Given the description of an element on the screen output the (x, y) to click on. 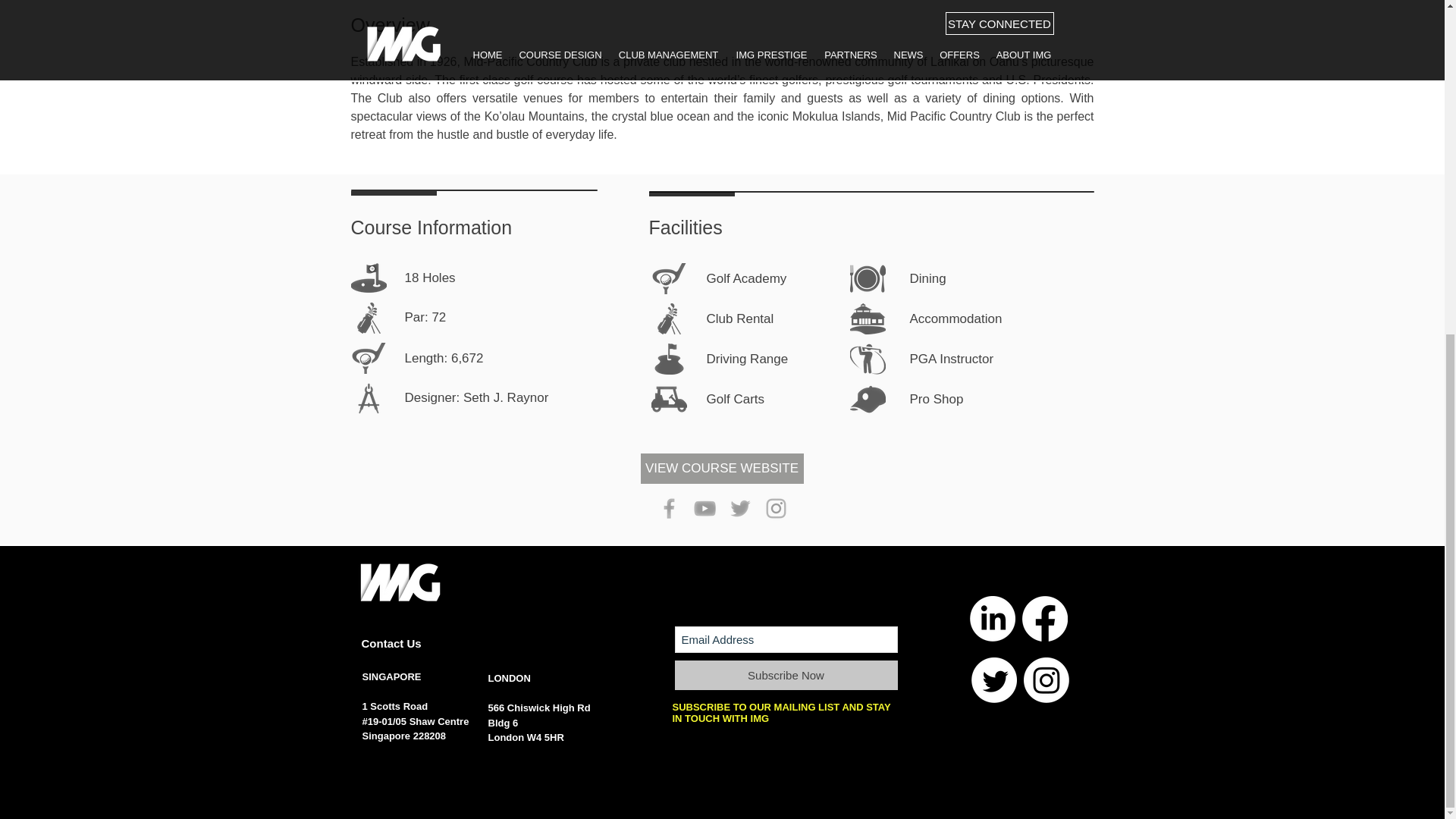
Contact Us (390, 643)
Subscribe Now (786, 675)
VIEW COURSE WEBSITE (721, 468)
